Given the description of an element on the screen output the (x, y) to click on. 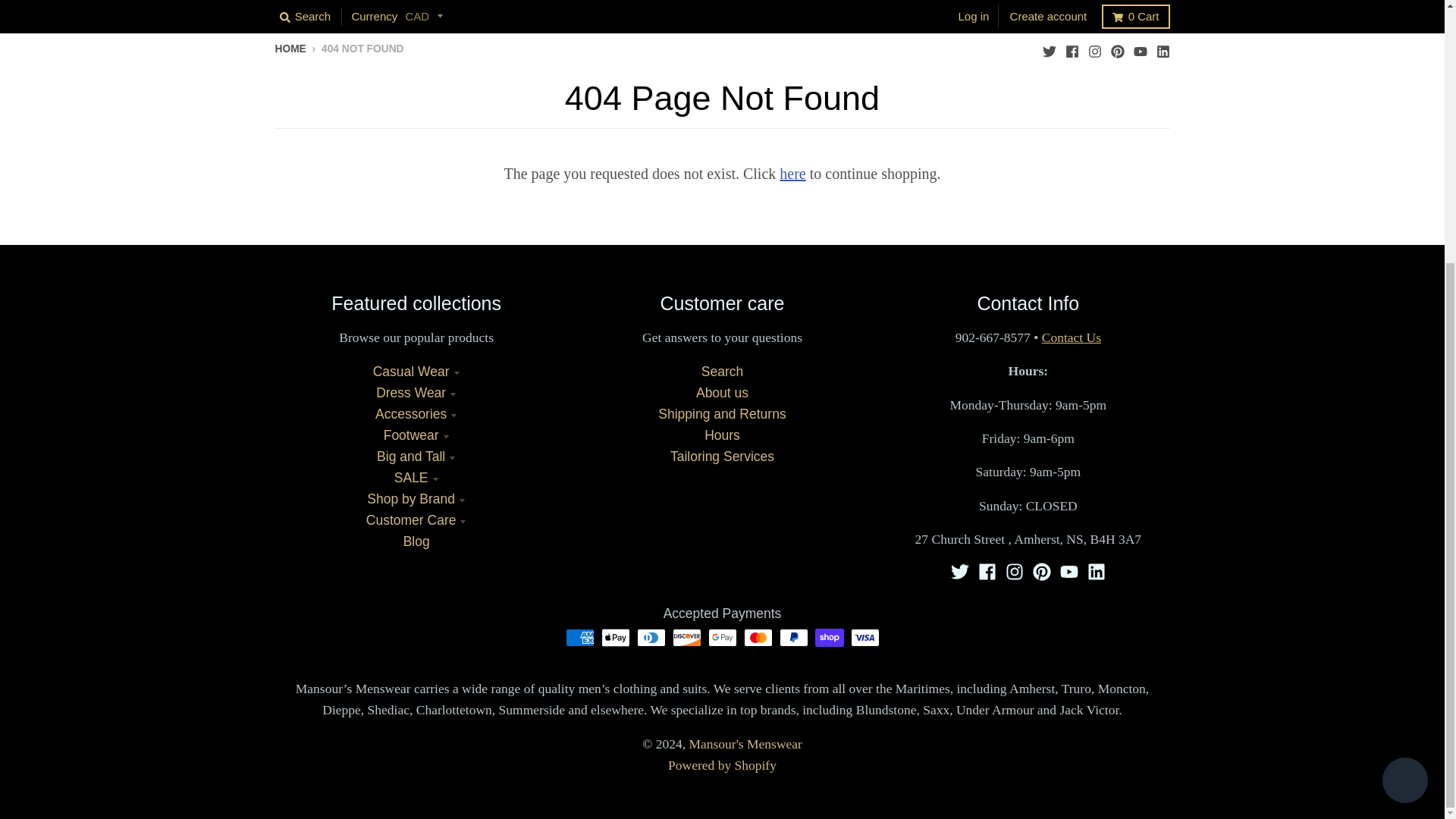
YouTube - Mansour's Menswear (1139, 47)
Pinterest - Mansour's Menswear (1116, 47)
Facebook - Mansour's Menswear (986, 571)
Twitter - Mansour's Menswear (1048, 47)
LinkedIn - Mansour's Menswear (1162, 47)
LinkedIn - Mansour's Menswear (1096, 571)
Facebook - Mansour's Menswear (1071, 47)
Back to the frontpage (290, 48)
Twitter - Mansour's Menswear (959, 571)
DRESS WEAR (391, 8)
